Given the description of an element on the screen output the (x, y) to click on. 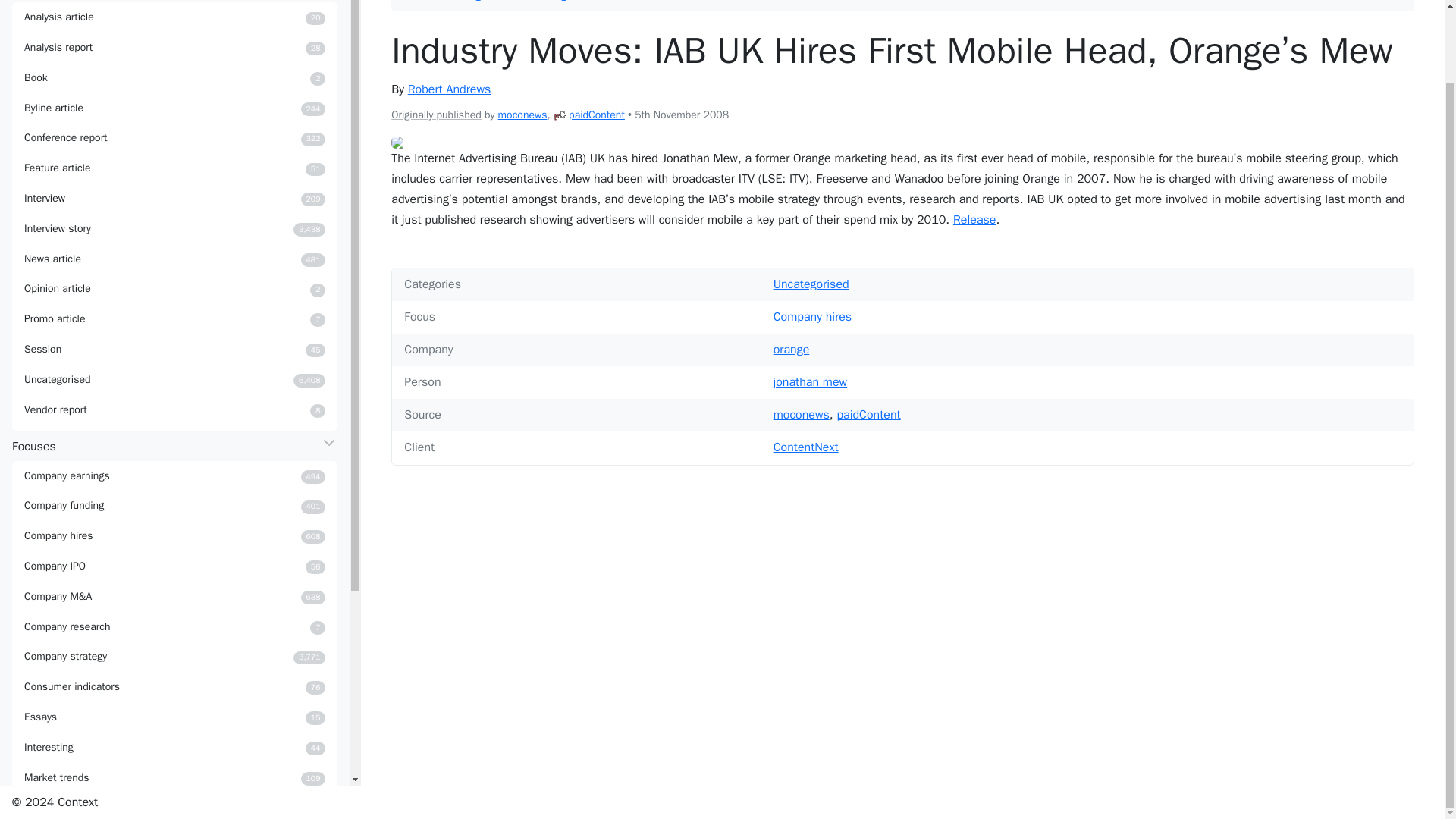
Release (974, 219)
Posts by Robert Andrews (174, 78)
View all posts in moconews (174, 137)
Focuses (174, 716)
